Given the description of an element on the screen output the (x, y) to click on. 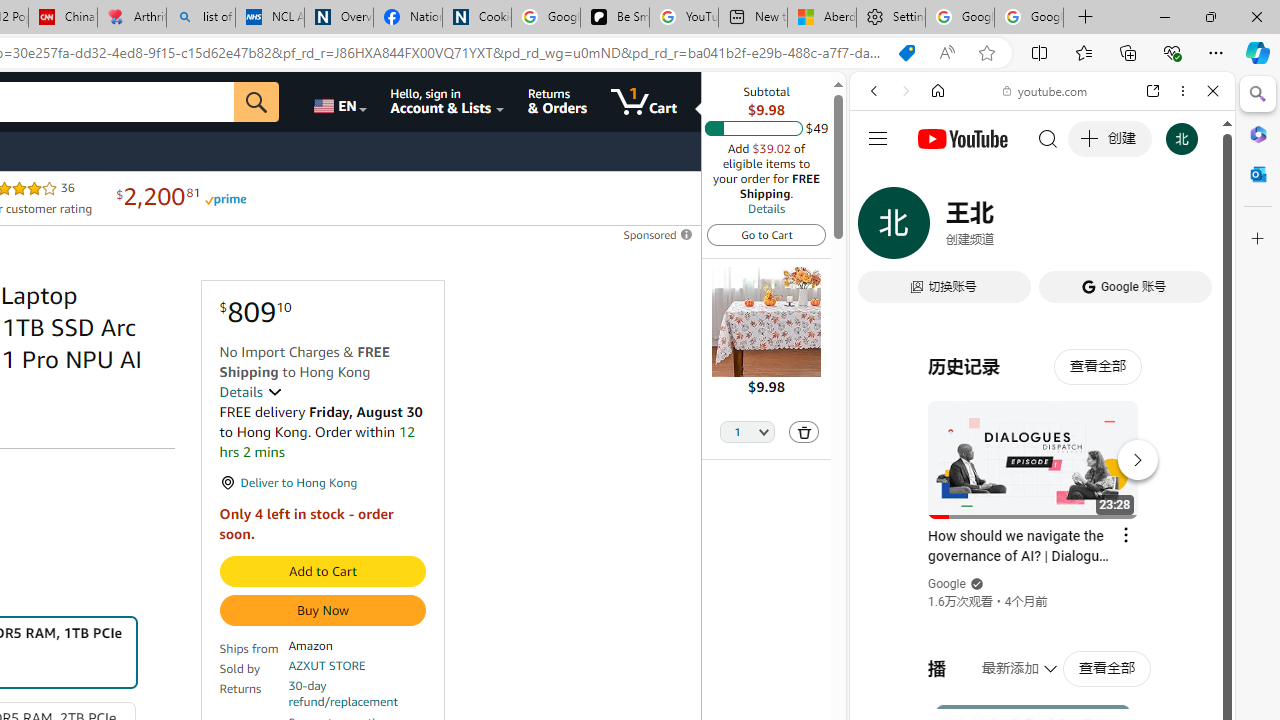
Prime (224, 198)
YouTube (1034, 296)
Choose a language for shopping. (339, 101)
Details (765, 208)
